Given the description of an element on the screen output the (x, y) to click on. 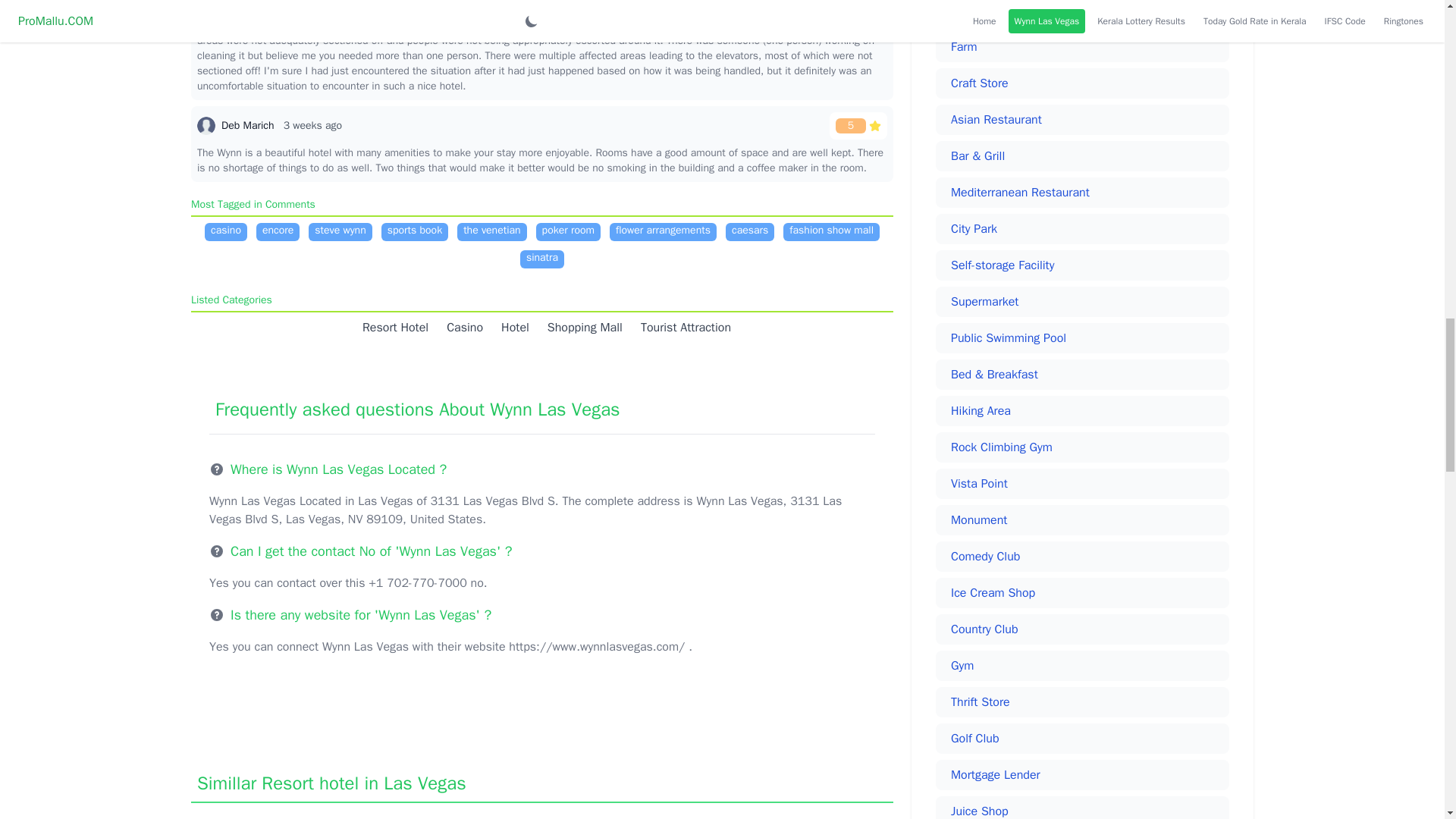
Casino (460, 327)
Shopping Mall (580, 327)
3 weeks ago (312, 124)
Hotel (510, 327)
Tourist Attraction (680, 327)
Resort Hotel (390, 327)
5 (857, 125)
